Given the description of an element on the screen output the (x, y) to click on. 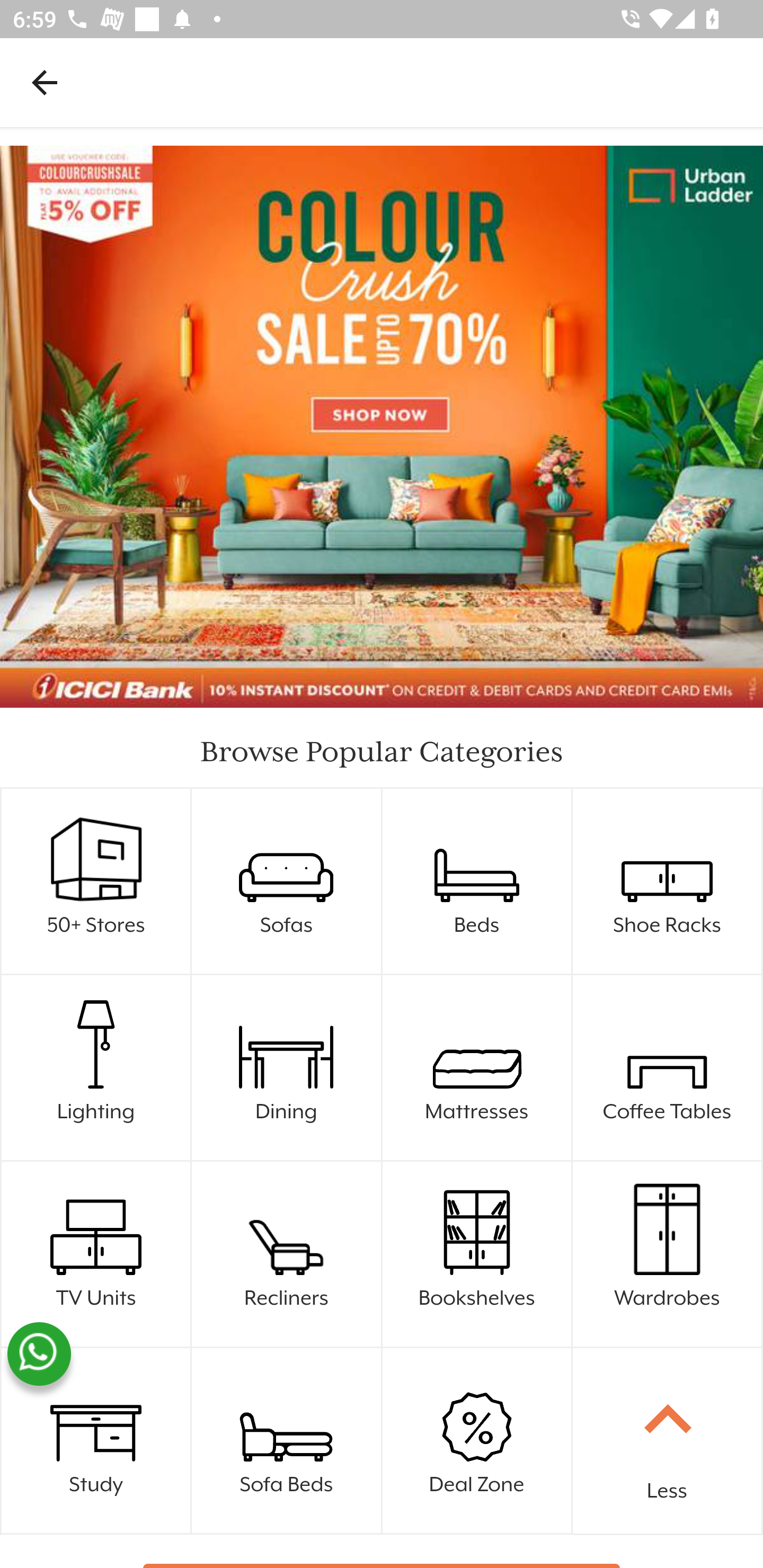
Navigate up (44, 82)
event sale (381, 426)
50+ Stores 50+ Stores 50+ Stores 50+ Stores (96, 881)
Sofas (286, 881)
Beds (477, 881)
Shoe Racks (667, 881)
Lighting (96, 1067)
Dining (286, 1067)
Mattresses (477, 1067)
Coffee Tables (667, 1067)
TV Units (96, 1254)
Recliners Recliners Recliners Recliners (286, 1254)
Bookshelves (477, 1254)
Wardrobes Wardrobes Wardrobes Wardrobes (667, 1254)
whatsapp (38, 1353)
Study (96, 1440)
Sofa Beds (286, 1440)
Less (667, 1440)
